Given the description of an element on the screen output the (x, y) to click on. 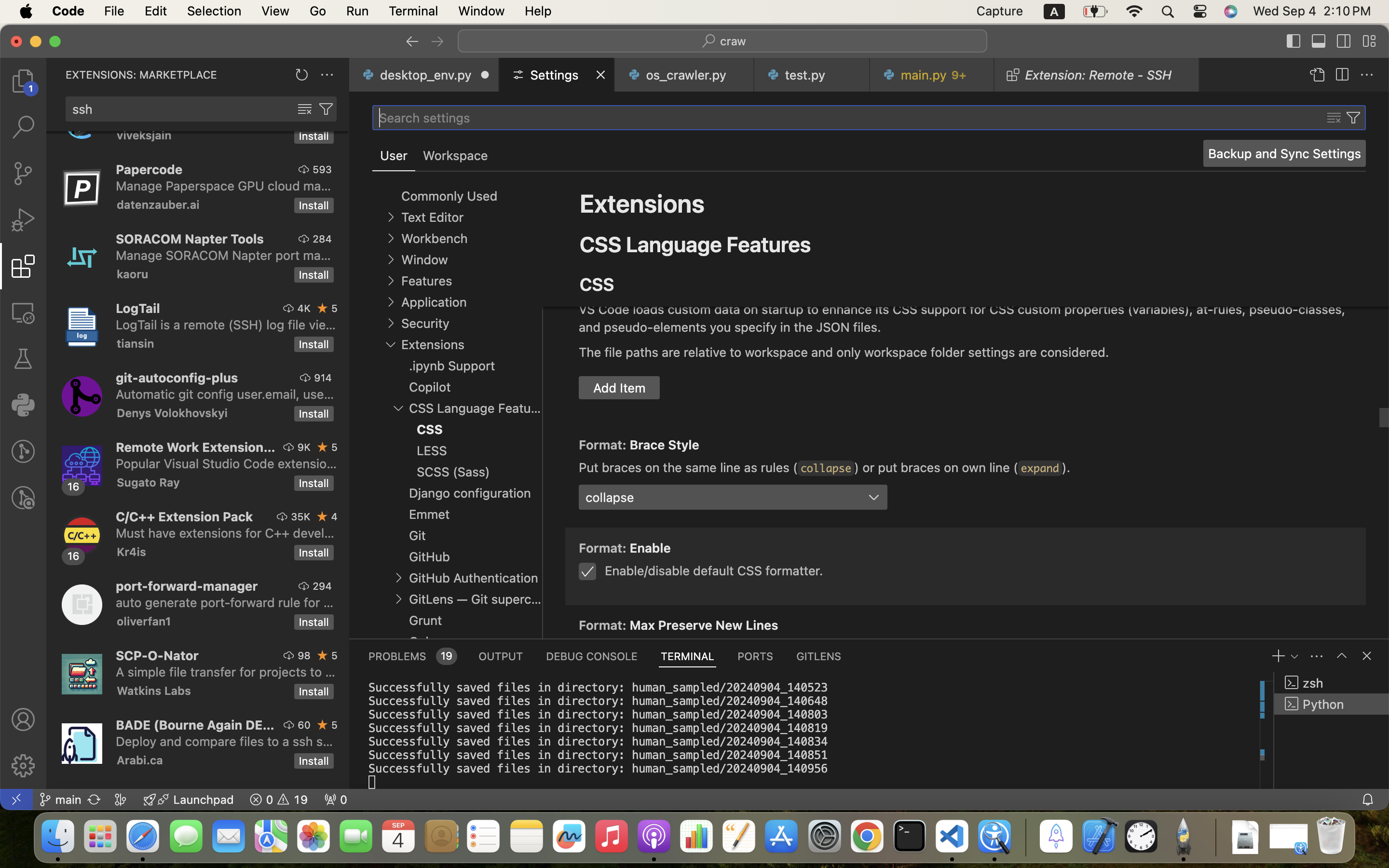
 Element type: AXCheckBox (1344, 41)
4K Element type: AXStaticText (303, 307)
Emmet Element type: AXStaticText (429, 514)
Max Preserve New Lines Element type: AXStaticText (703, 625)
Manage Paperspace GPU cloud machines directly from VS Code. Open with just one click a remote VS Code session, streamlining your machine learning & data science process and increasing productivity. Element type: AXStaticText (223, 185)
